Given the description of an element on the screen output the (x, y) to click on. 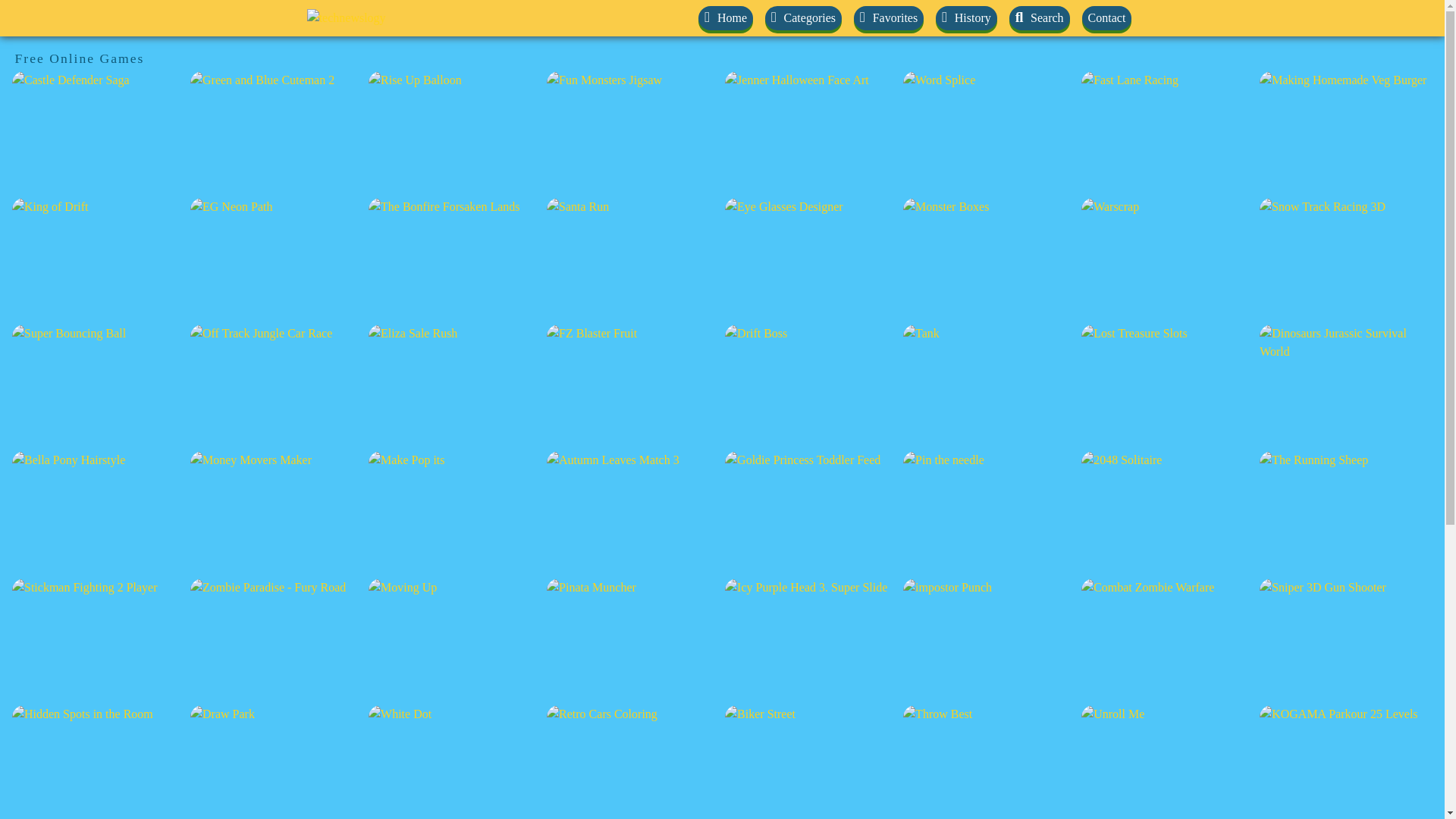
Contact (1106, 17)
Categories (803, 17)
History (966, 17)
Home (725, 17)
Favorites (888, 17)
Search (1039, 17)
